Given the description of an element on the screen output the (x, y) to click on. 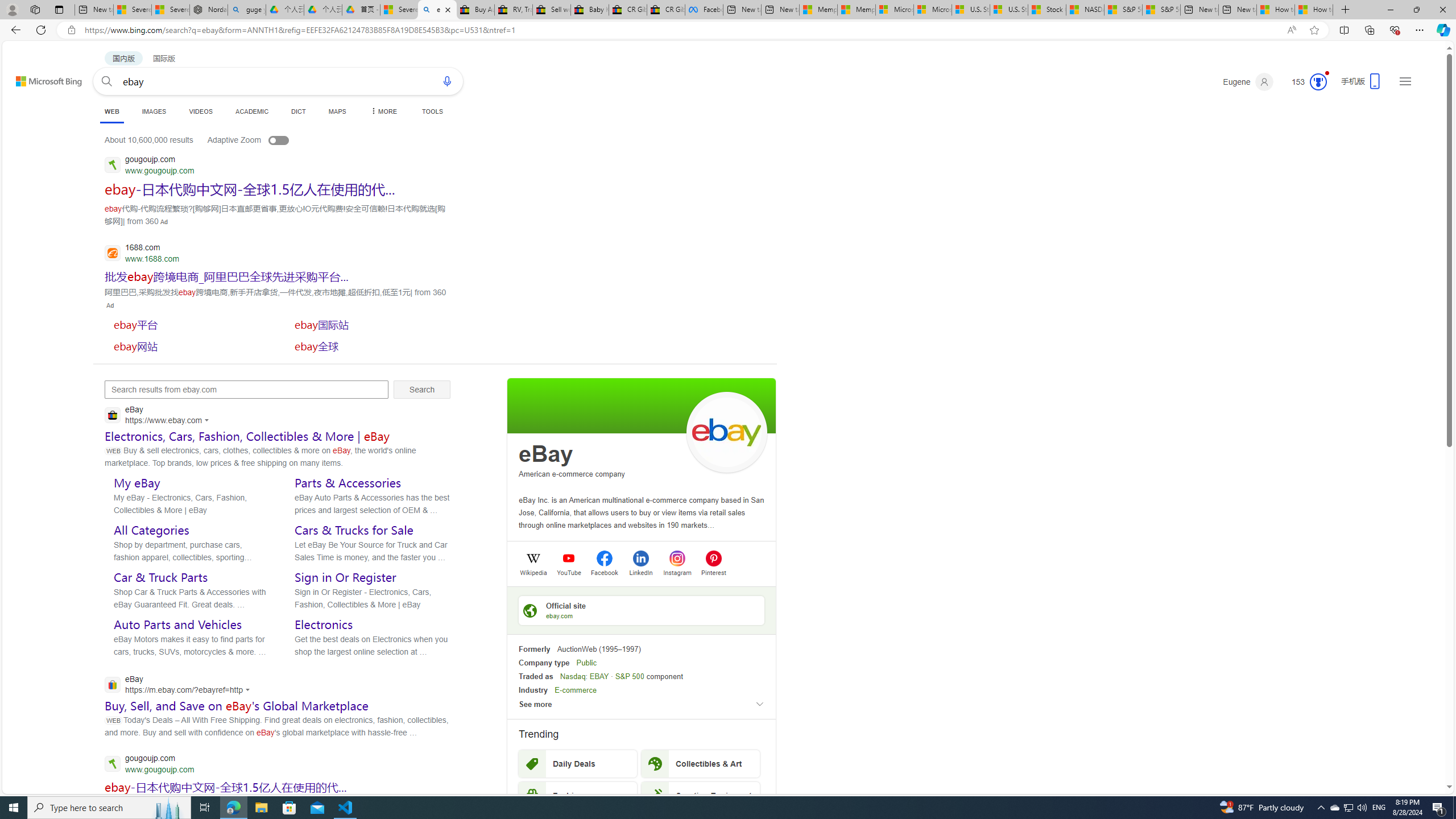
Buy, Sell, and Save on eBay's Global Marketplace (236, 705)
ACADEMIC (252, 111)
MAPS (336, 111)
Search results from ebay.com (246, 389)
Sign in Or Register (345, 577)
IMAGES (153, 111)
YouTube (568, 571)
EBAY (598, 676)
See more images of eBay (726, 432)
TOOLS (431, 111)
